Given the description of an element on the screen output the (x, y) to click on. 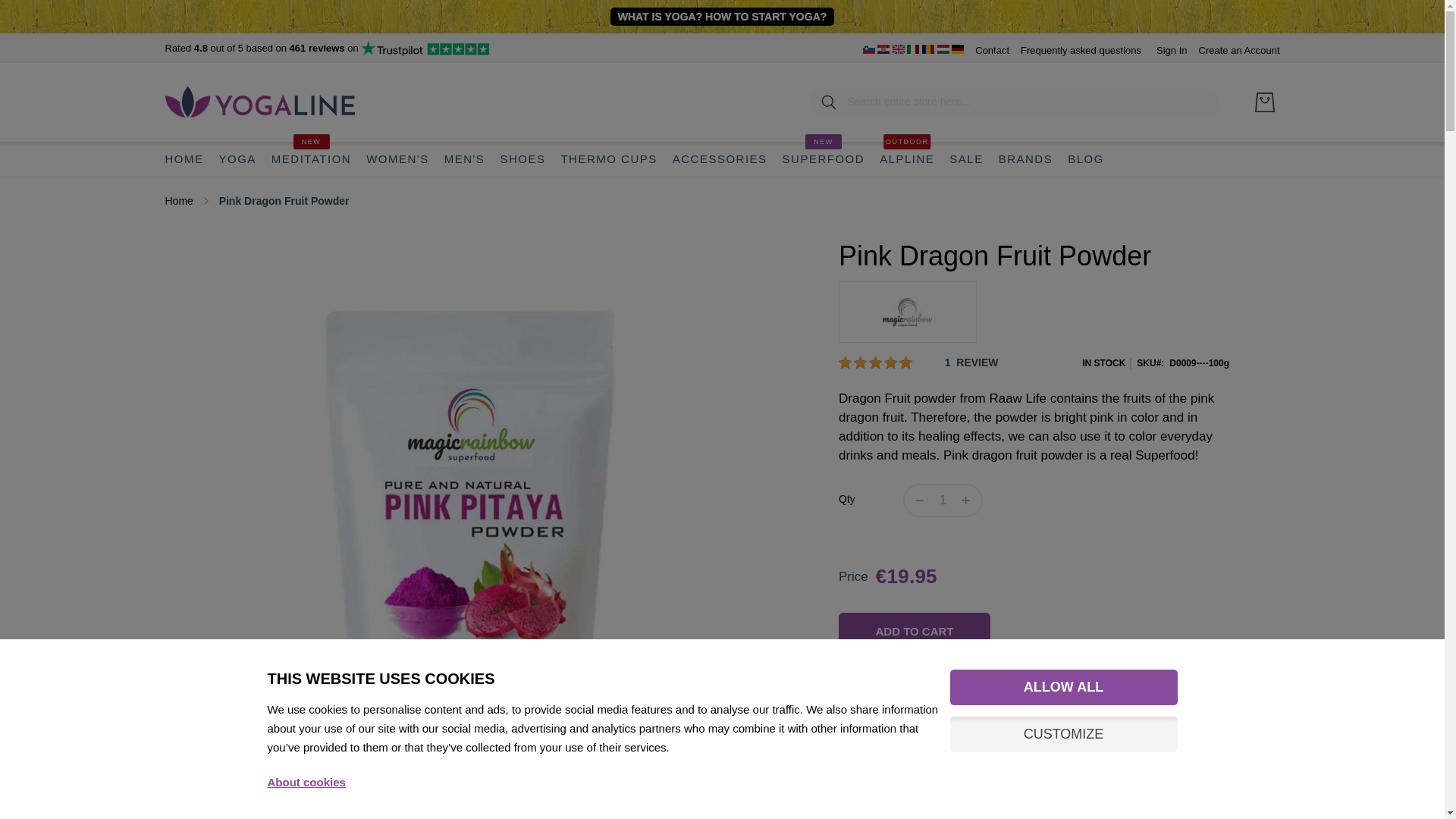
YogaLine shop (260, 101)
Contact (992, 50)
Frequently asked questions (1080, 50)
Sign In (1171, 50)
JogaLine - trgovina za jogo in ostale vadbe (869, 50)
YOGA (237, 158)
Sign In (1171, 50)
YogaLine - Shop for yoga and other activities (898, 50)
Create an Account (1238, 50)
Negozio di yoga Italia - Acquista yoga e altre attivita (912, 50)
